Given the description of an element on the screen output the (x, y) to click on. 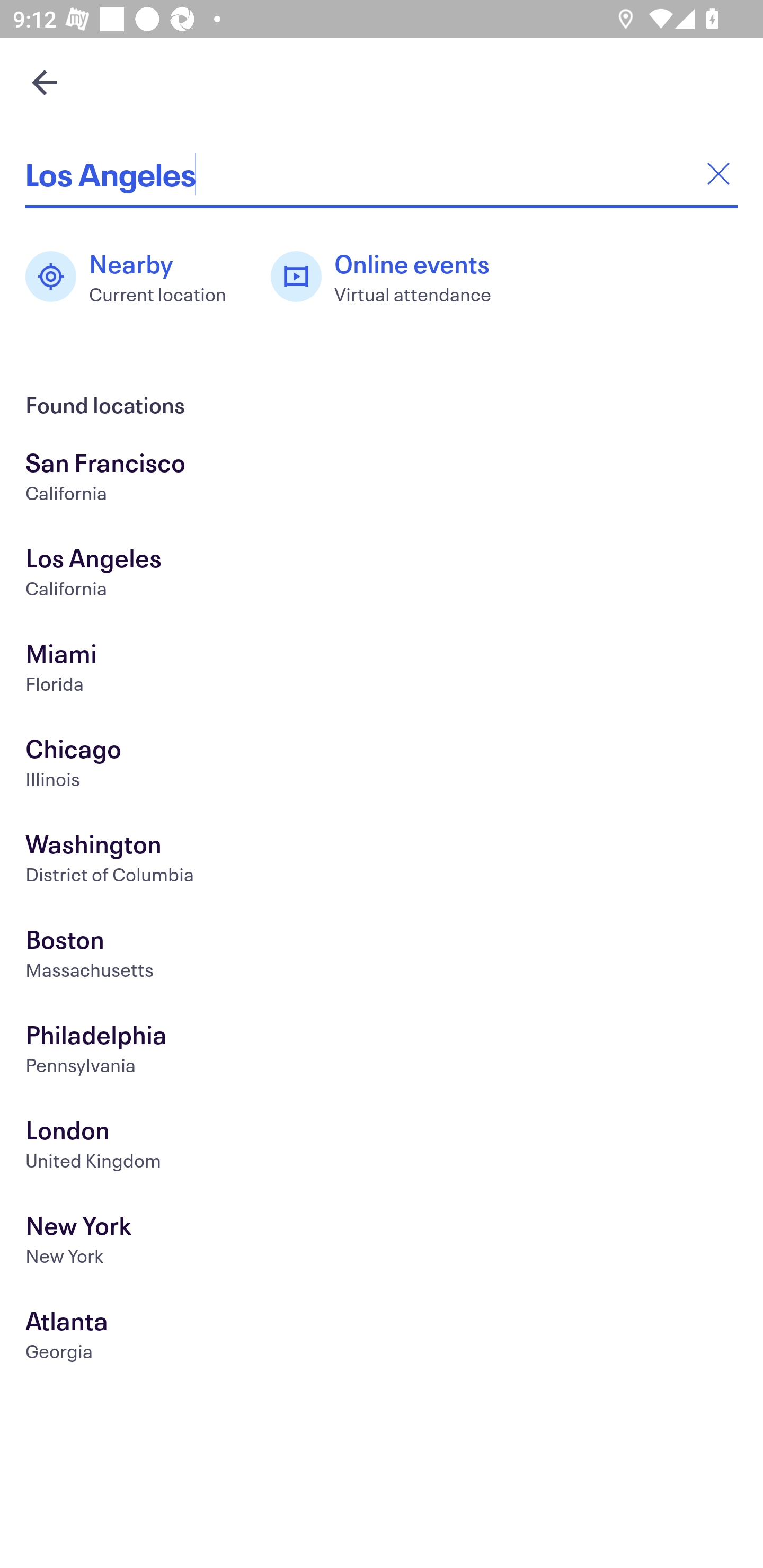
Navigate up (44, 82)
Los Angeles (381, 173)
Nearby Current location (135, 276)
Online events Virtual attendance (390, 276)
San Francisco California (381, 479)
Los Angeles California (381, 574)
Miami Florida (381, 670)
Chicago Illinois (381, 765)
Washington District of Columbia (381, 861)
Boston Massachusetts (381, 955)
Philadelphia Pennsylvania (381, 1051)
London United Kingdom (381, 1146)
New York (381, 1242)
Atlanta Georgia (381, 1338)
